Given the description of an element on the screen output the (x, y) to click on. 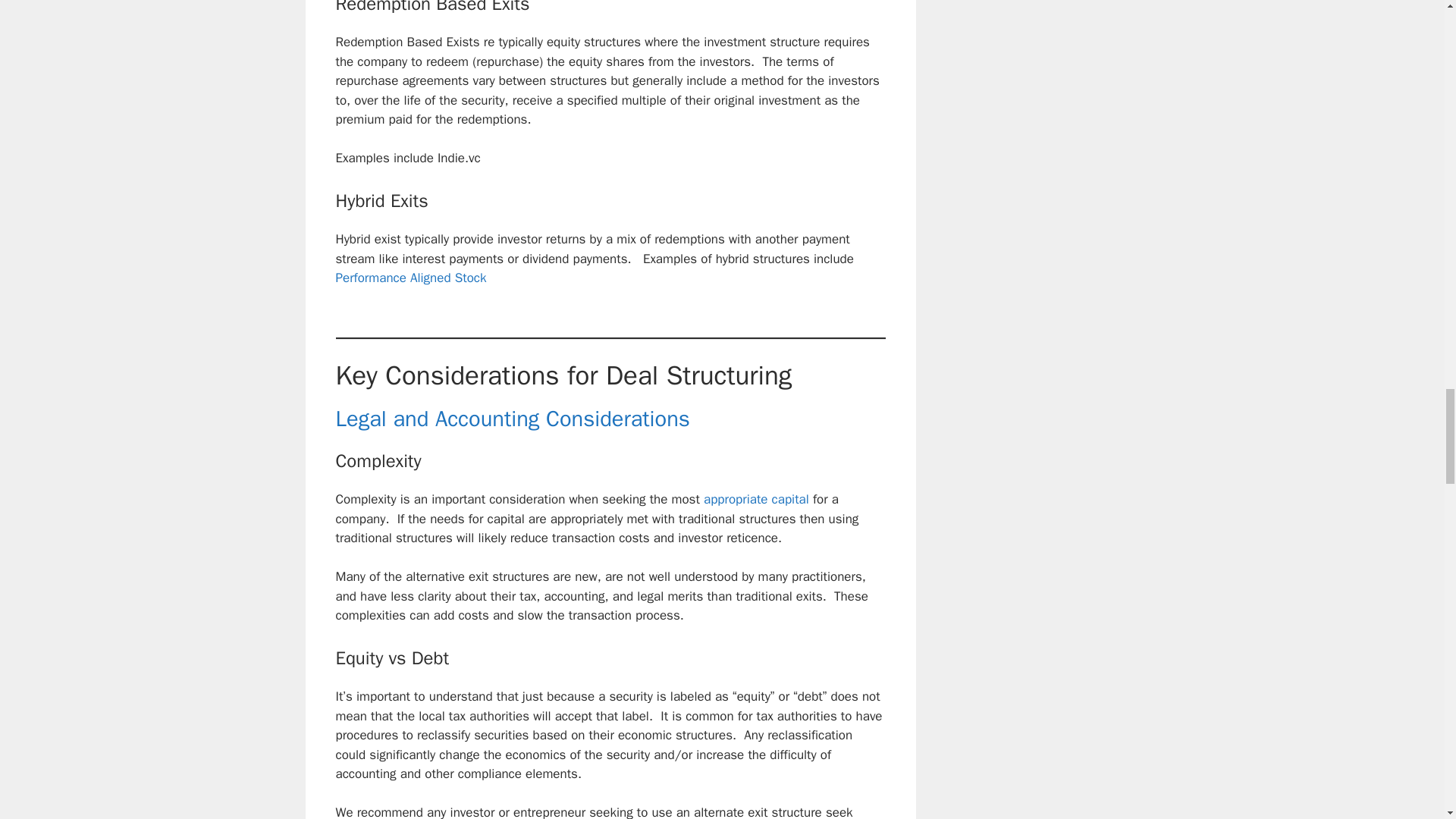
Legal and Accounting Considerations (511, 418)
Performance Aligned Stock (410, 277)
appropriate capital (754, 498)
